Given the description of an element on the screen output the (x, y) to click on. 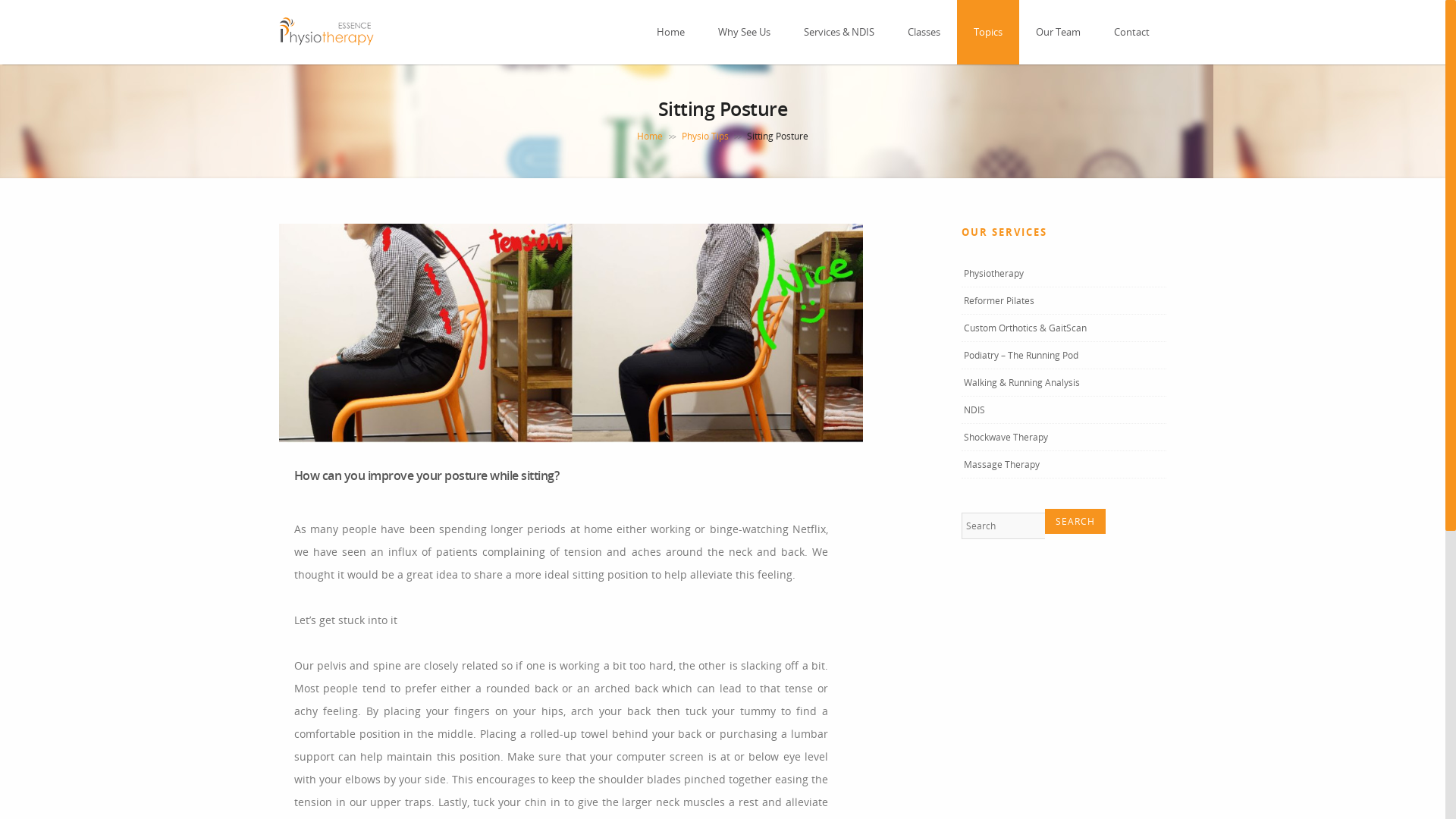
Massage Therapy Element type: text (1001, 464)
Our Team Element type: text (1058, 32)
Why See Us Element type: text (744, 32)
Essence Physiotherapy, Pilates & Podiatry Element type: hover (326, 43)
Shockwave Therapy Element type: text (1005, 436)
Classes Element type: text (924, 32)
Physiotherapy Element type: text (993, 272)
Home Element type: text (670, 32)
Home Element type: text (649, 135)
Physio Tips Element type: text (704, 135)
Search Element type: text (1074, 520)
Contact Element type: text (1131, 32)
Topics Element type: text (988, 32)
Services & NDIS Element type: text (839, 32)
Walking & Running Analysis Element type: text (1021, 382)
NDIS Element type: text (974, 409)
Custom Orthotics & GaitScan Element type: text (1024, 327)
Reformer Pilates Element type: text (998, 300)
